Given the description of an element on the screen output the (x, y) to click on. 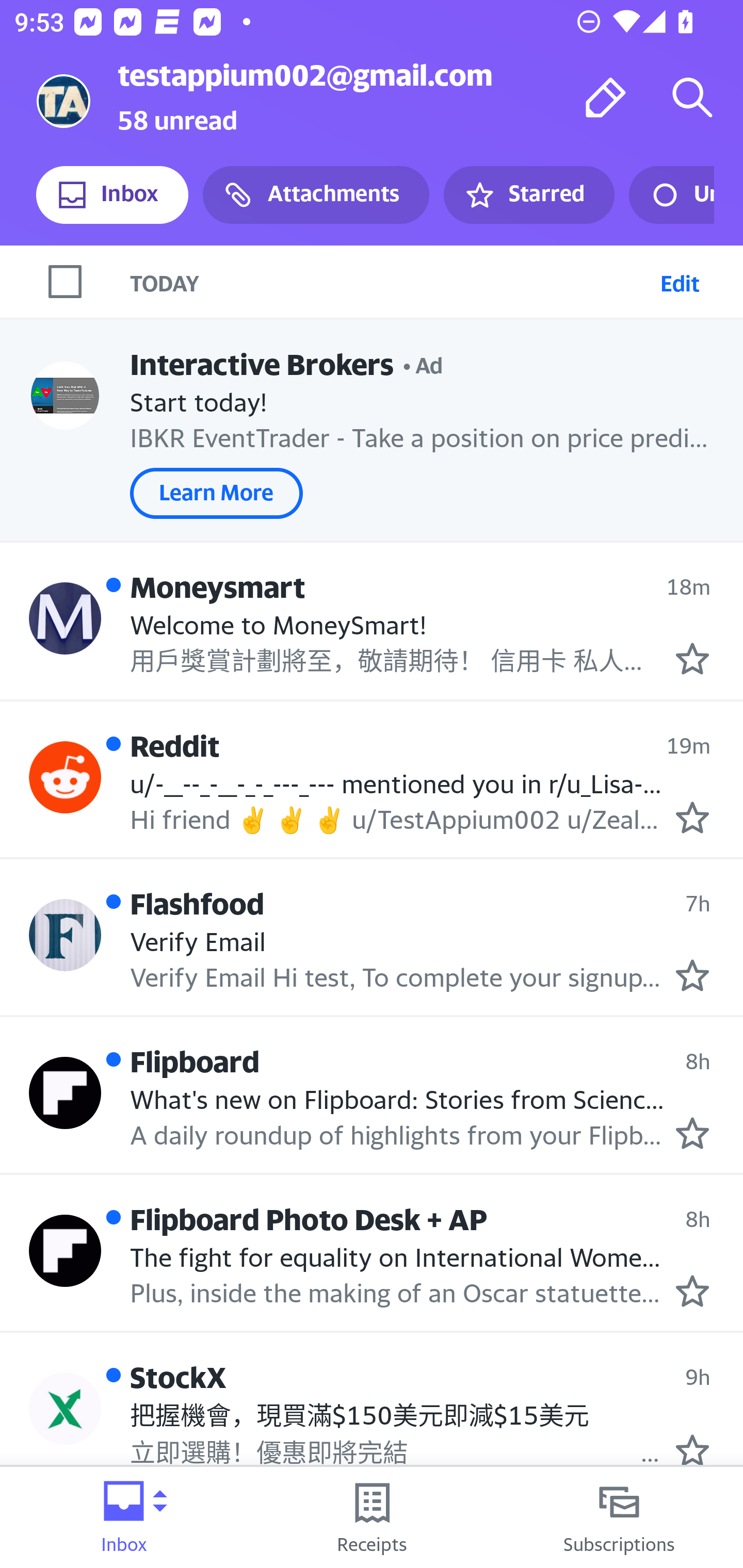
Compose (605, 97)
Search mail (692, 97)
Attachments (315, 195)
Starred (528, 195)
Unread (671, 195)
TODAY (391, 281)
Edit Select emails (679, 281)
• Ad (422, 363)
Profile
Moneysmart (64, 617)
Mark as starred. (692, 659)
Profile
Reddit (64, 777)
Mark as starred. (692, 817)
Profile
Flashfood (64, 934)
Mark as starred. (692, 976)
Profile
Flipboard (64, 1092)
Mark as starred. (692, 1132)
Profile
Flipboard Photo Desk + AP (64, 1251)
Mark as starred. (692, 1291)
Profile
StockX (64, 1408)
Mark as starred. (692, 1450)
